Given the description of an element on the screen output the (x, y) to click on. 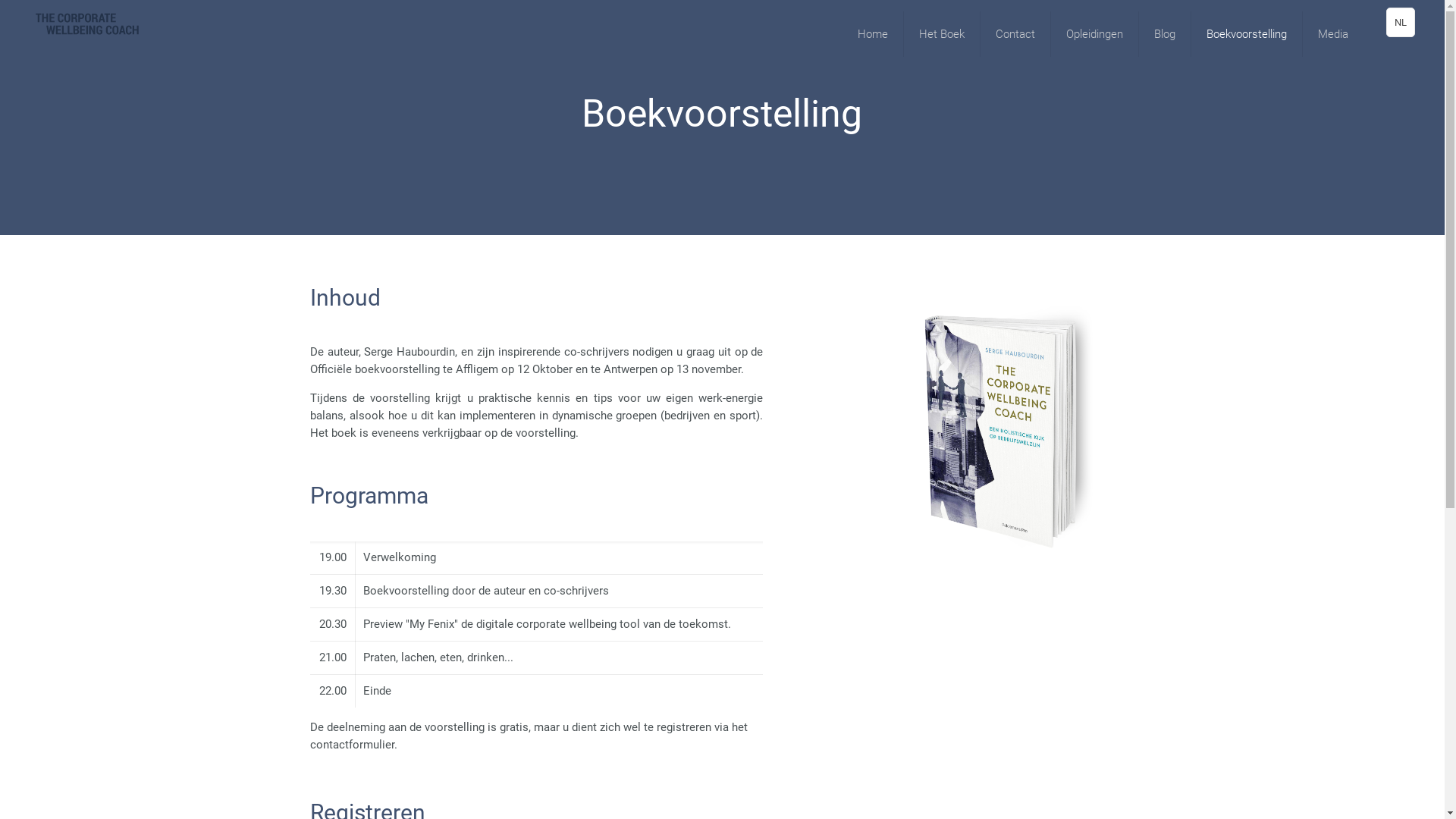
Boekvoorstelling Element type: text (1246, 33)
Home Element type: text (872, 33)
Media Element type: text (1332, 33)
Blog Element type: text (1165, 33)
NL Element type: text (1400, 22)
Opleidingen Element type: text (1095, 33)
Het Boek Element type: text (941, 33)
Contact Element type: text (1015, 33)
The Corporate Wellbeing Coach Element type: hover (86, 22)
